Given the description of an element on the screen output the (x, y) to click on. 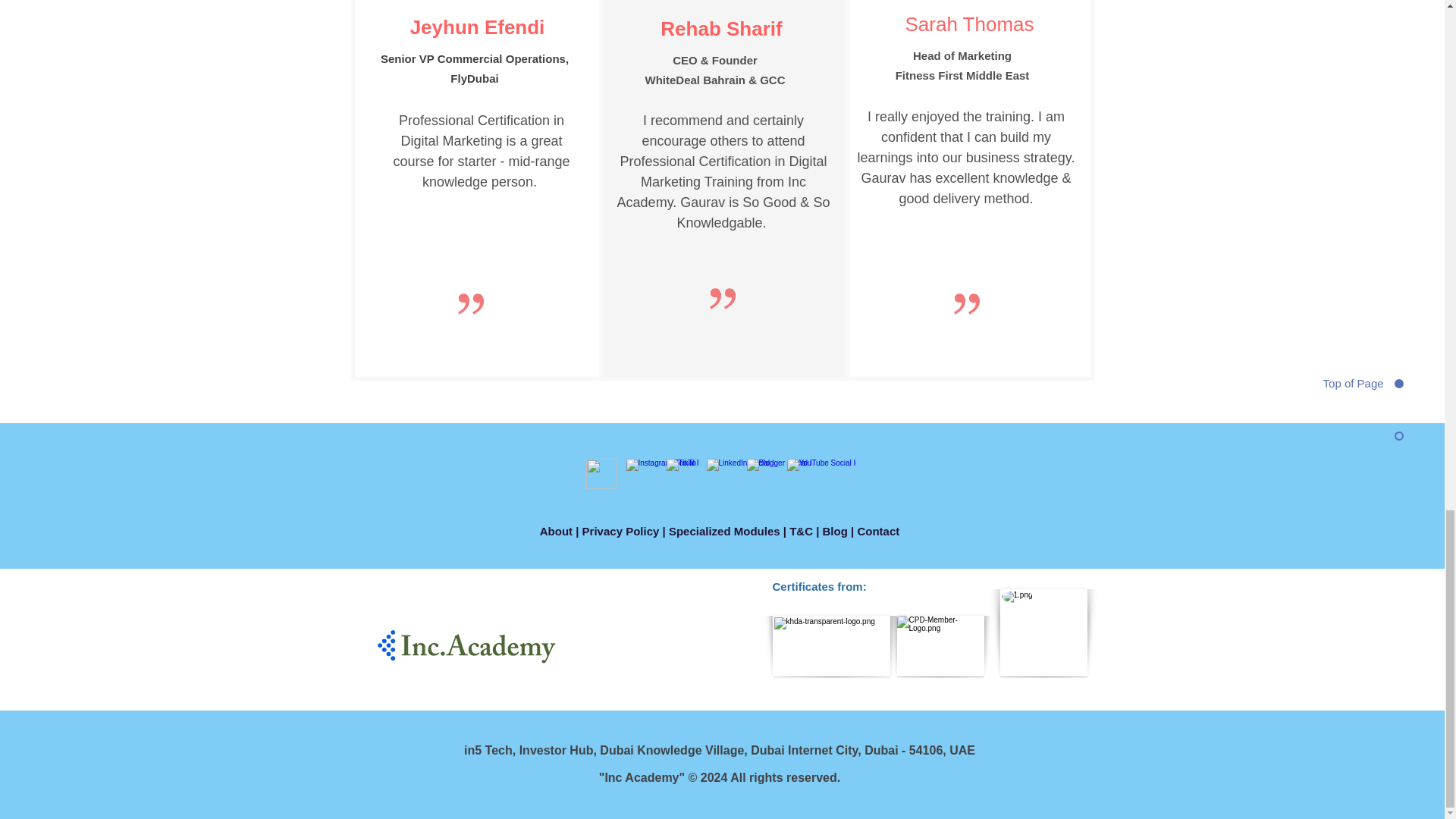
Specialized Modules (724, 530)
Contact (878, 530)
Blog (834, 530)
Privacy Policy (620, 530)
About (556, 530)
